Given the description of an element on the screen output the (x, y) to click on. 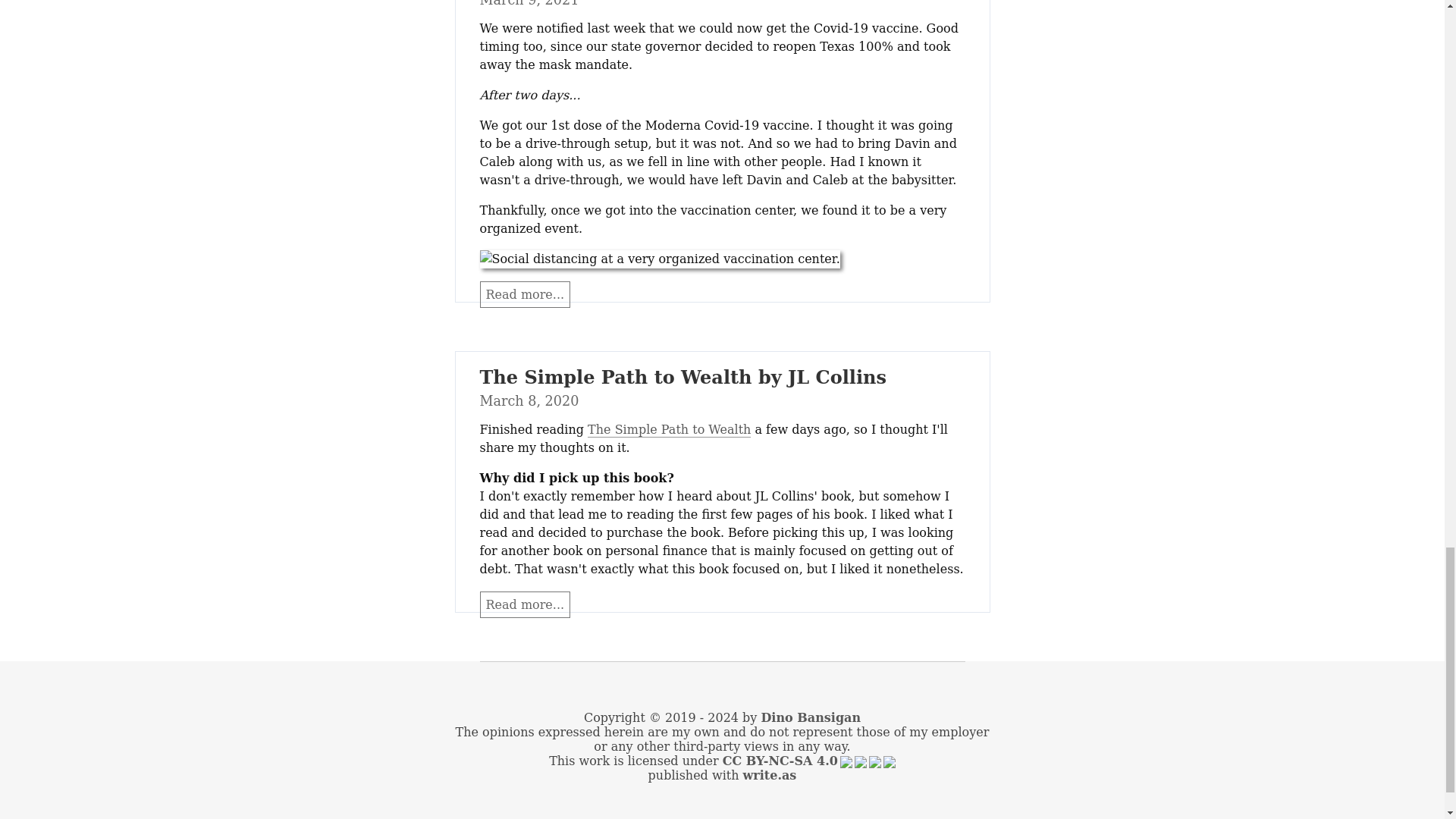
The Simple Path to Wealth by JL Collins (682, 377)
CC BY-NC-SA 4.0 (808, 760)
Dino Bansigan (810, 717)
The Simple Path to Wealth (669, 429)
Read more... (524, 604)
write.as (769, 775)
Read more... (524, 294)
